Given the description of an element on the screen output the (x, y) to click on. 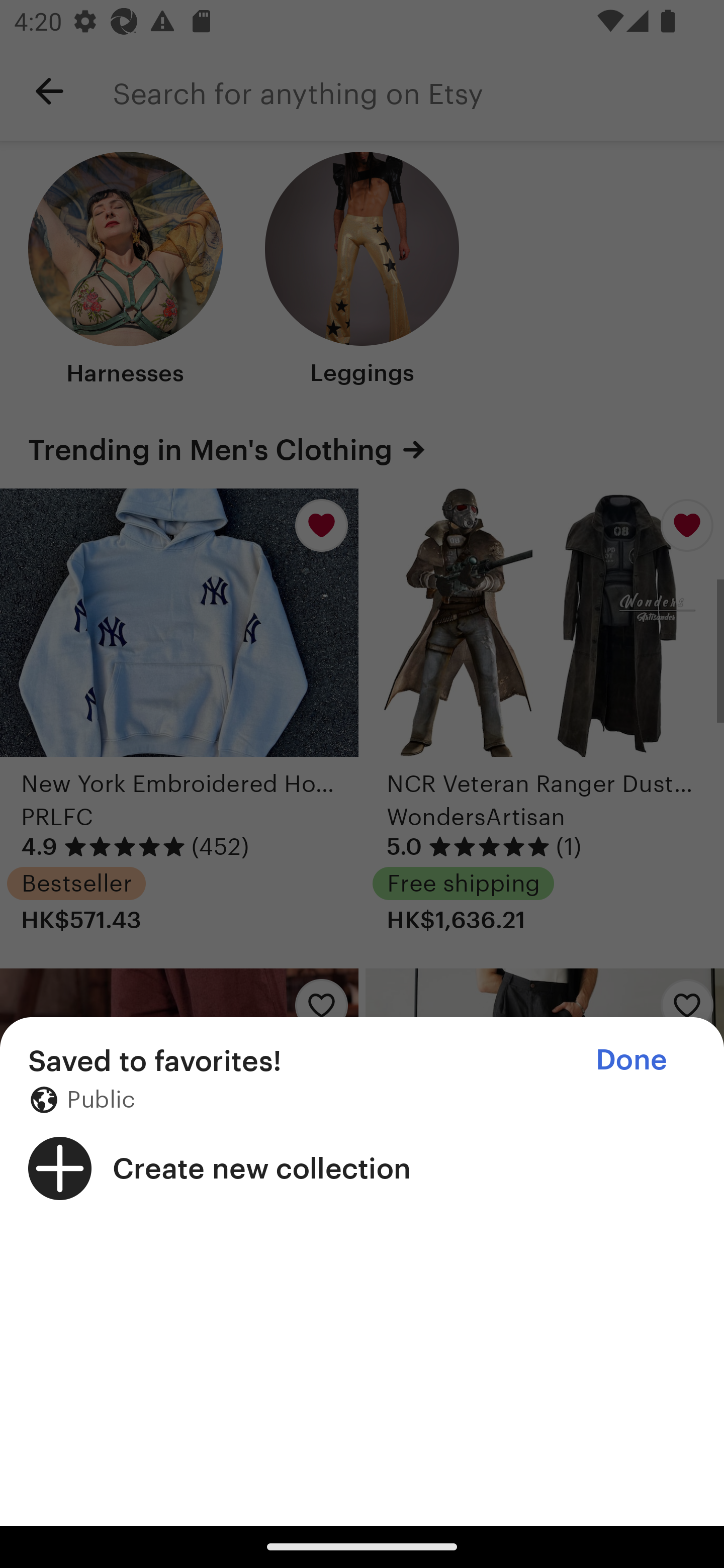
Done (630, 1059)
Create new collection (361, 1167)
